Given the description of an element on the screen output the (x, y) to click on. 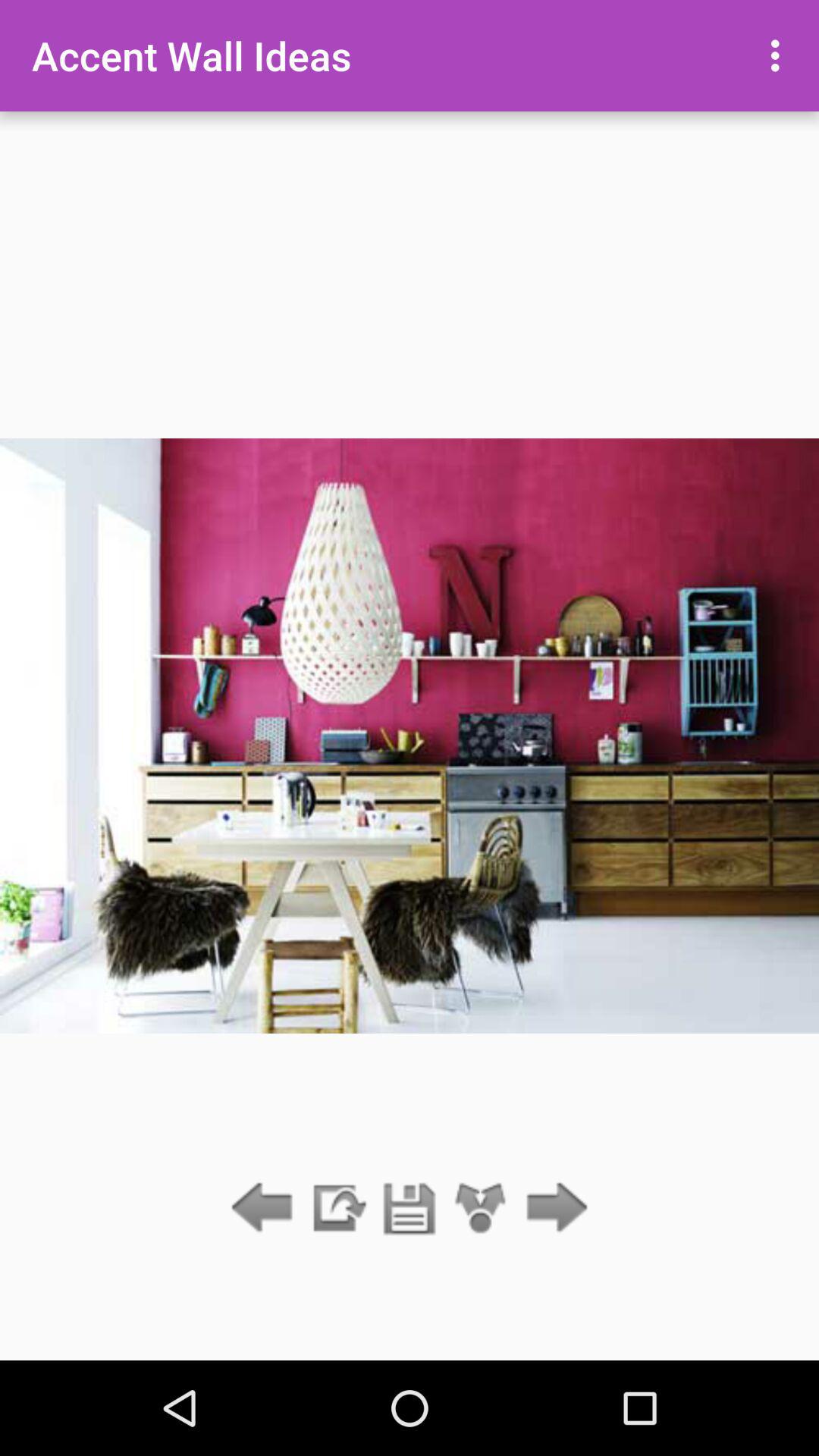
save the image (409, 1208)
